Given the description of an element on the screen output the (x, y) to click on. 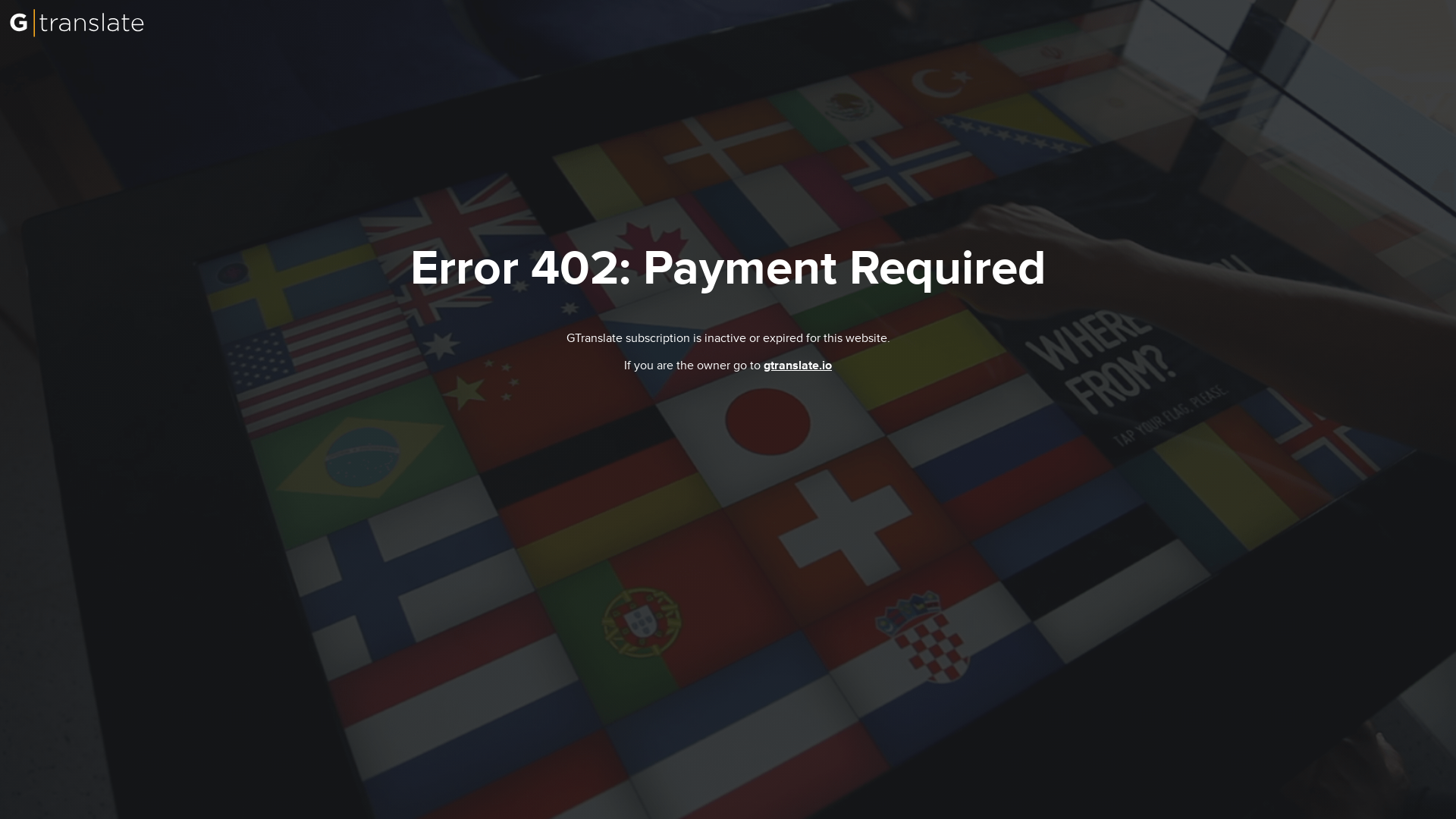
gtranslate.io (796, 365)
